Given the description of an element on the screen output the (x, y) to click on. 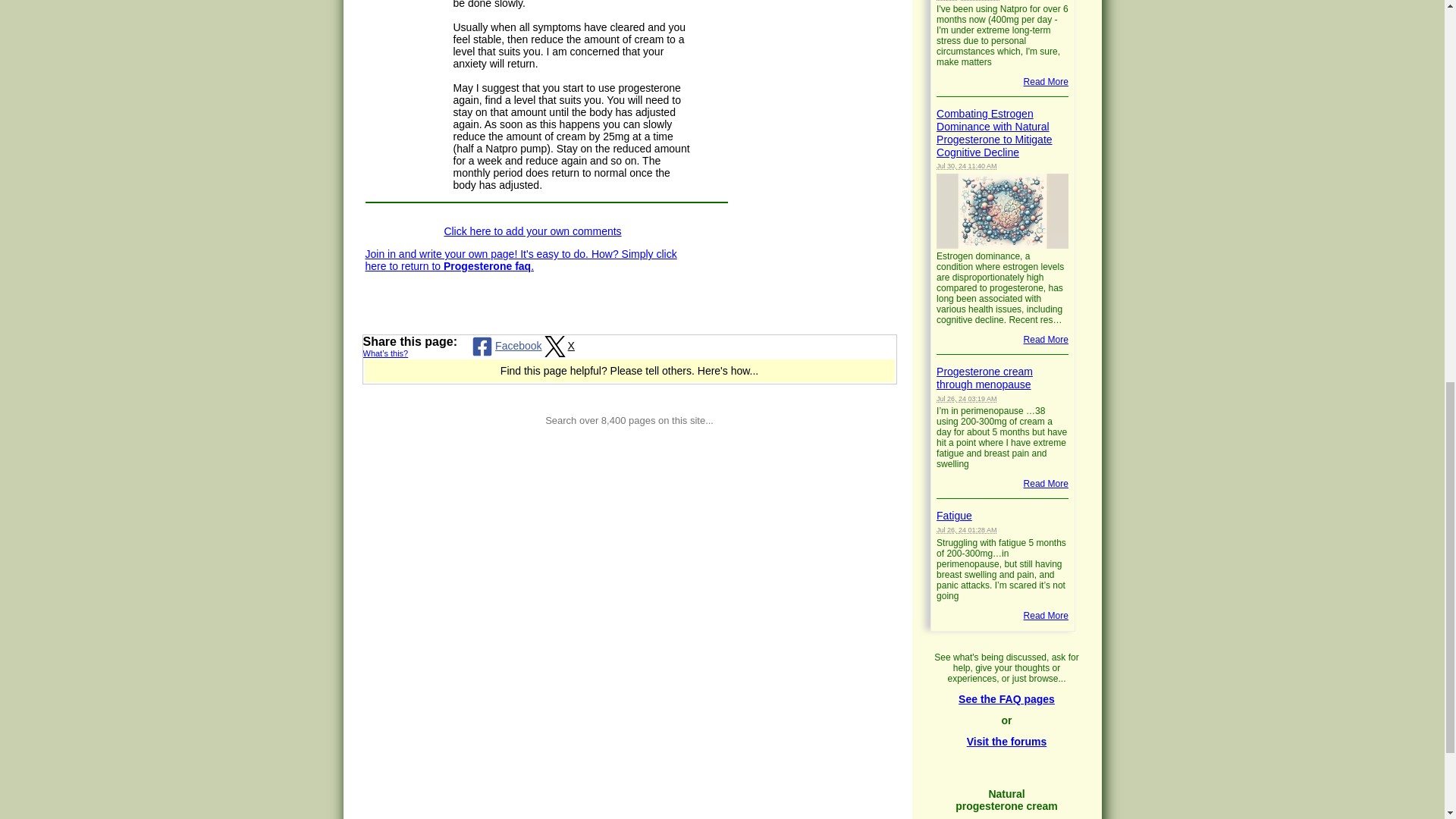
2024-07-30T11:40:51-0400 (966, 165)
2024-08-10T06:30:31-0400 (968, 0)
2024-07-26T03:19:18-0400 (966, 398)
2024-07-26T01:28:12-0400 (966, 529)
